Given the description of an element on the screen output the (x, y) to click on. 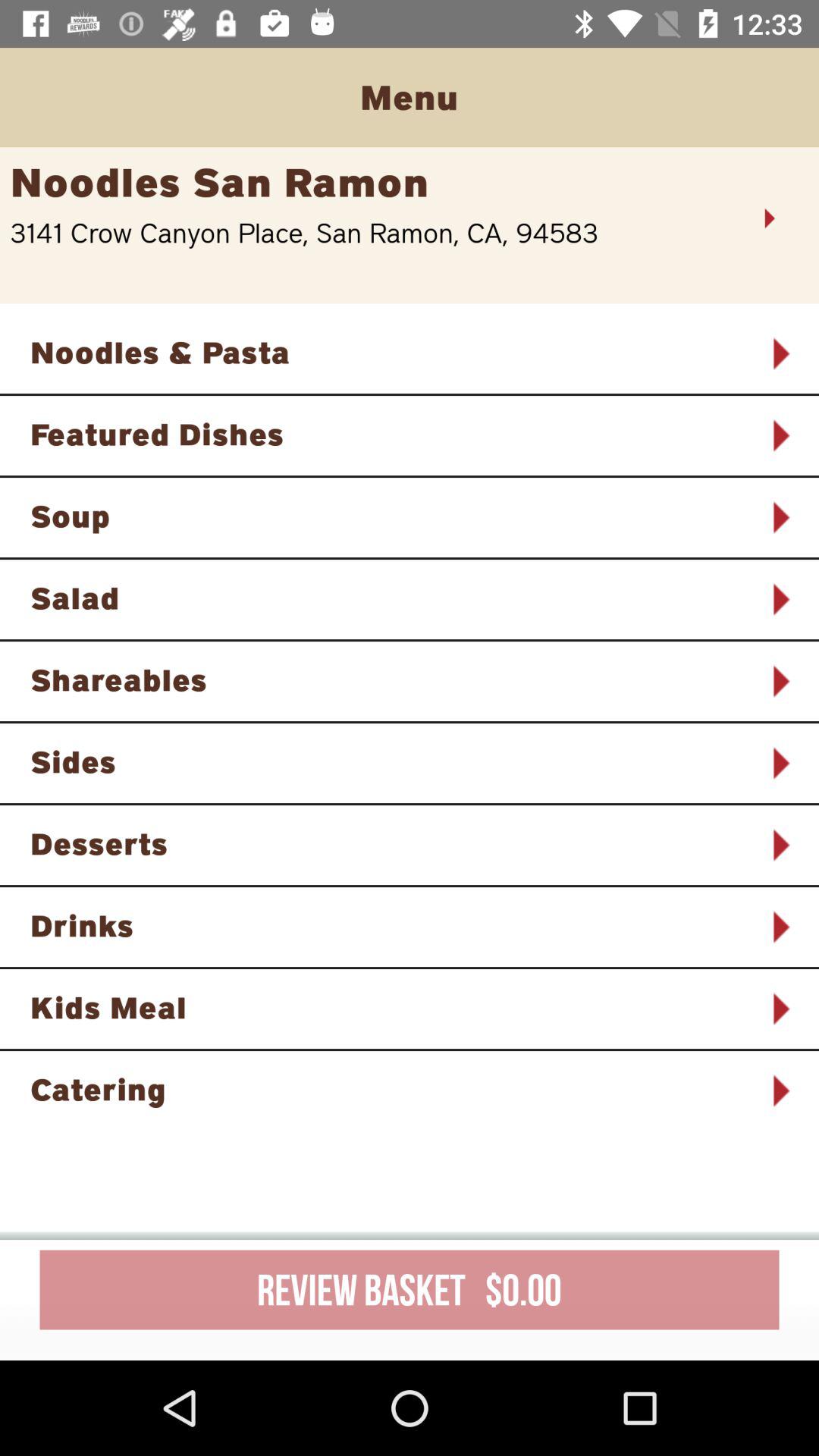
choose the item above the salad (390, 515)
